Given the description of an element on the screen output the (x, y) to click on. 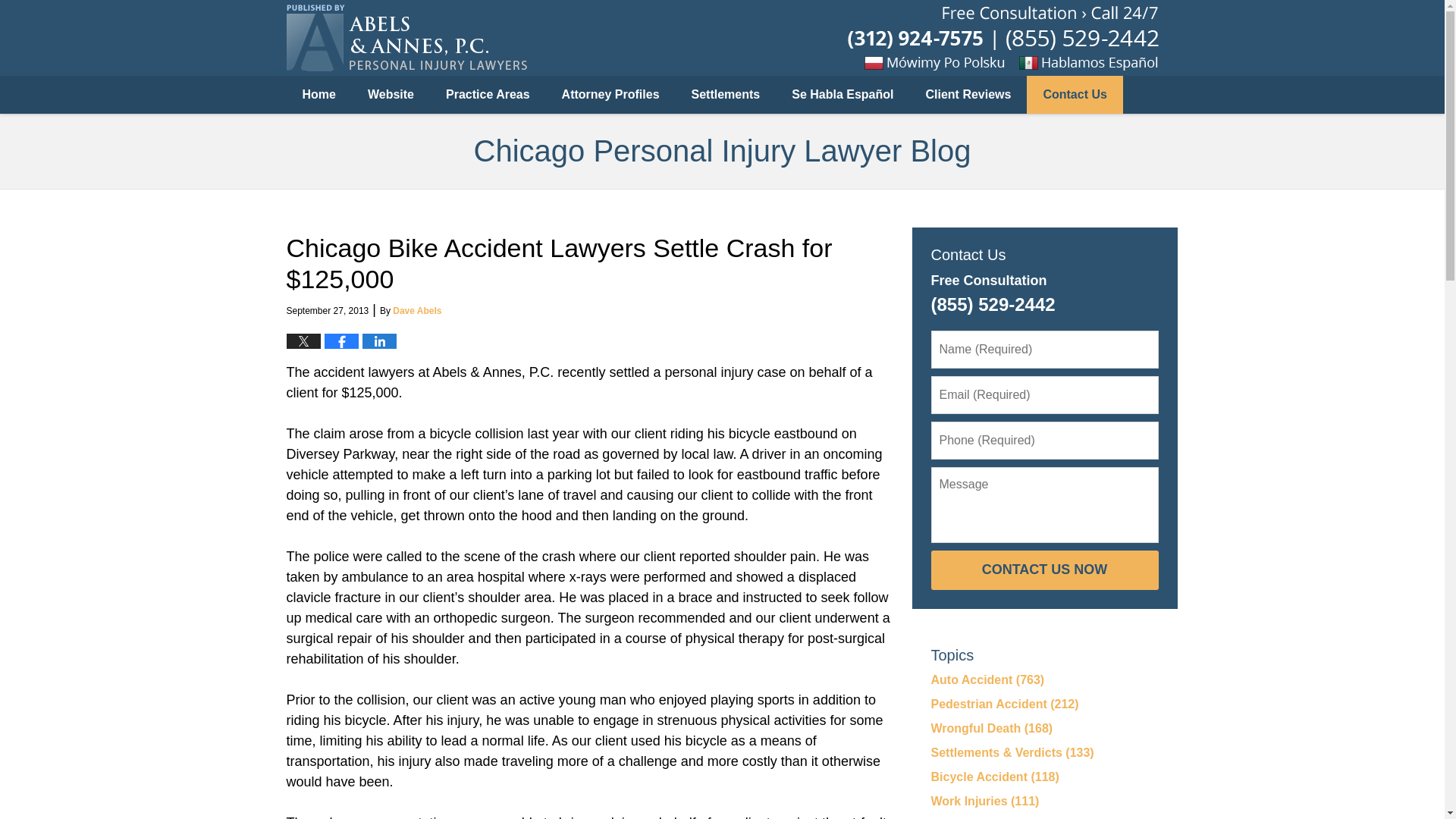
Website (390, 94)
Attorney Profiles (610, 94)
Chicago Personal Injury Lawyer Blog (406, 37)
Contact Us (1074, 94)
Client Reviews (968, 94)
Se habla espanol (1119, 61)
Please enter a valid phone number. (1044, 440)
Home (319, 94)
Mowimy po polsku (945, 61)
Settlements (725, 94)
